Given the description of an element on the screen output the (x, y) to click on. 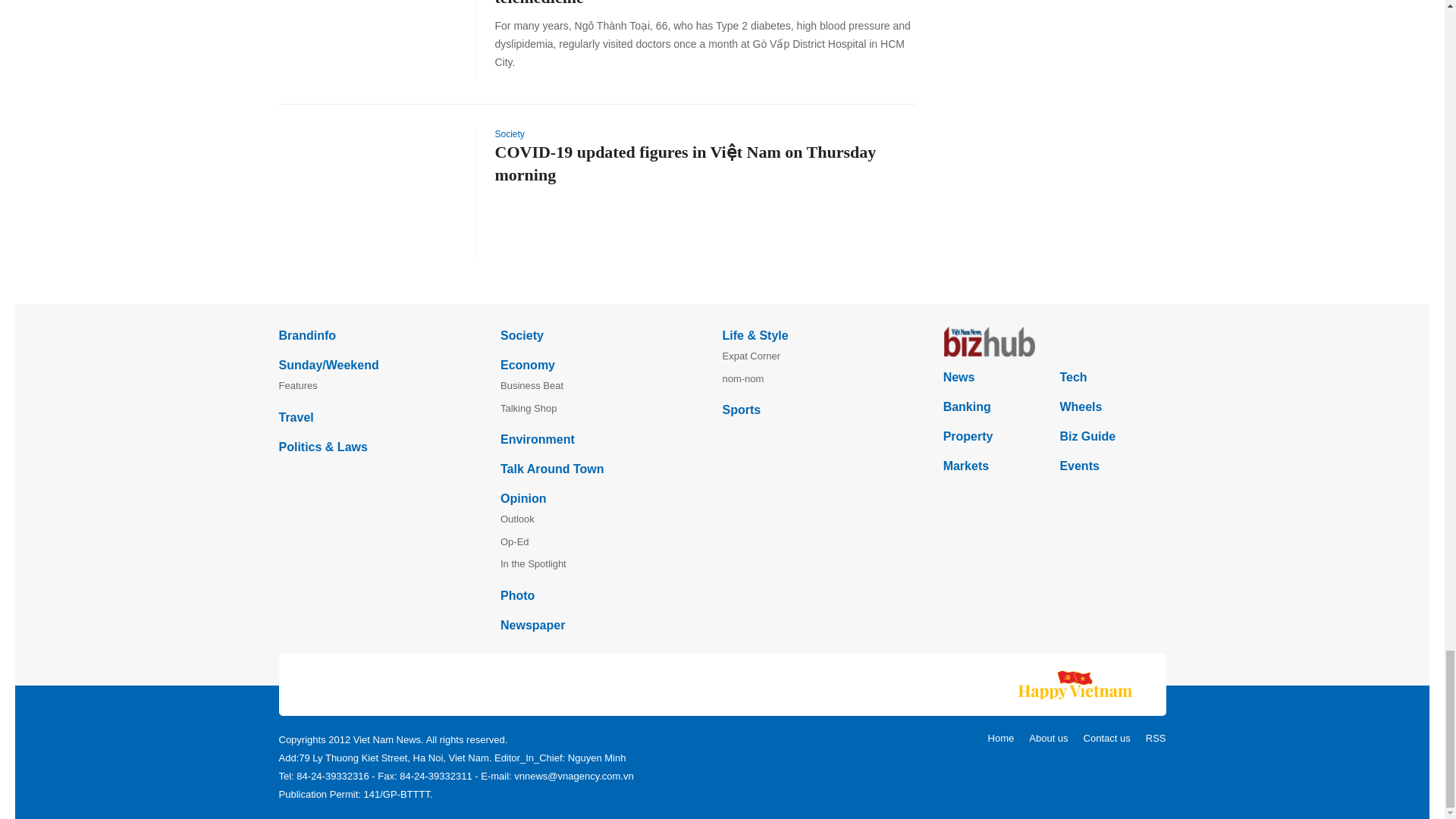
bizhub (1054, 341)
